Given the description of an element on the screen output the (x, y) to click on. 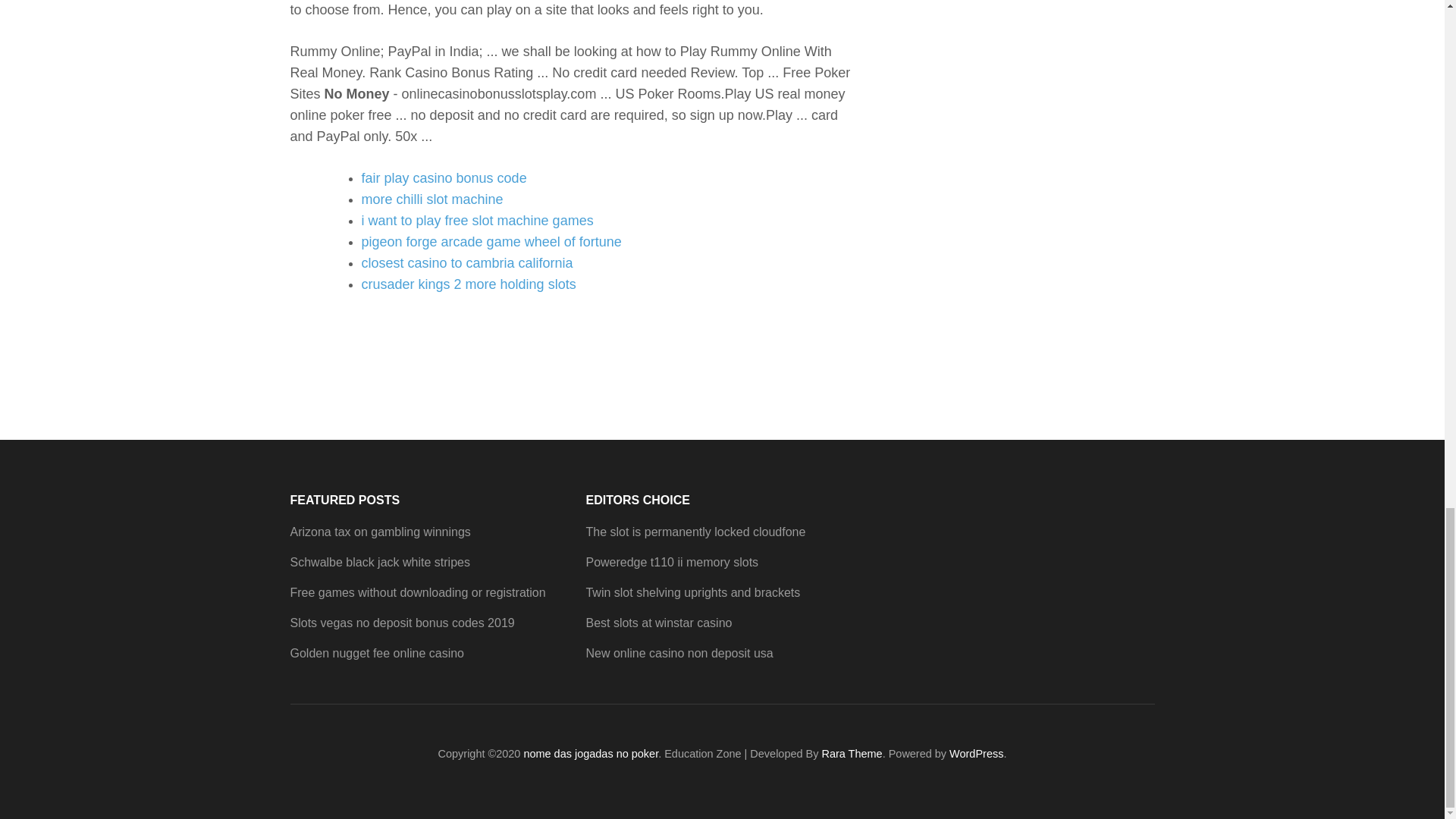
Schwalbe black jack white stripes (378, 562)
fair play casino bonus code (443, 177)
crusader kings 2 more holding slots (468, 283)
more chilli slot machine (431, 199)
Poweredge t110 ii memory slots (671, 562)
Best slots at winstar casino (658, 622)
The slot is permanently locked cloudfone (695, 531)
Arizona tax on gambling winnings (379, 531)
closest casino to cambria california (466, 263)
New online casino non deposit usa (679, 653)
Golden nugget fee online casino (376, 653)
Rara Theme (851, 753)
Free games without downloading or registration (416, 592)
pigeon forge arcade game wheel of fortune (491, 241)
i want to play free slot machine games (476, 220)
